Given the description of an element on the screen output the (x, y) to click on. 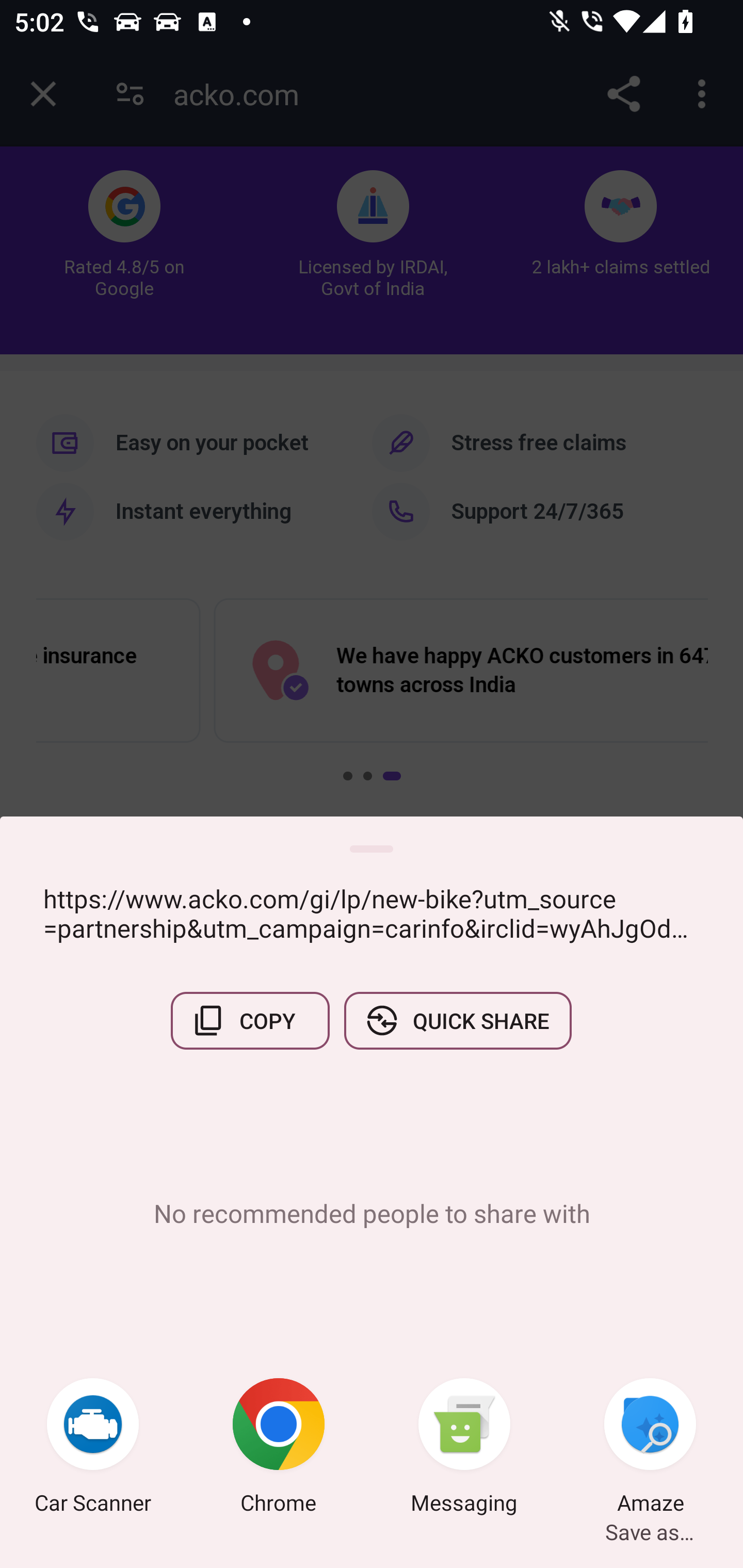
COPY (249, 1020)
QUICK SHARE (457, 1020)
Car Scanner (92, 1448)
Chrome (278, 1448)
Messaging (464, 1448)
Amaze Save as… (650, 1448)
